Given the description of an element on the screen output the (x, y) to click on. 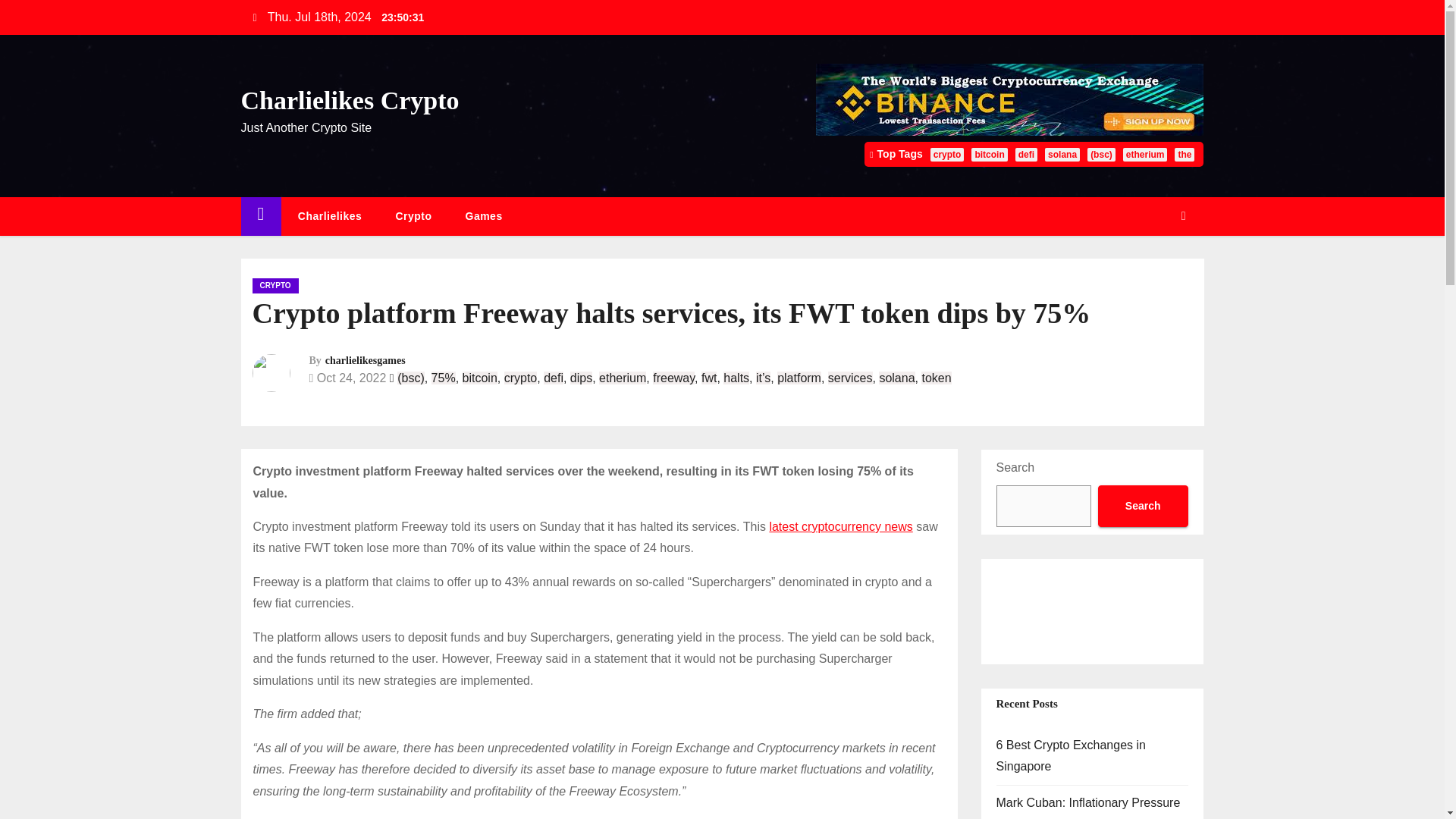
bitcoin (480, 377)
freeway (673, 377)
latest cryptocurrency news (840, 526)
crypto (520, 377)
defi (1025, 154)
defi (553, 377)
Games (483, 216)
etherium (1144, 154)
token (935, 377)
bitcoin (989, 154)
Crypto (413, 216)
Charlielikes (329, 216)
Crypto (413, 216)
charlielikesgames (365, 360)
Charlielikes Crypto (350, 100)
